Given the description of an element on the screen output the (x, y) to click on. 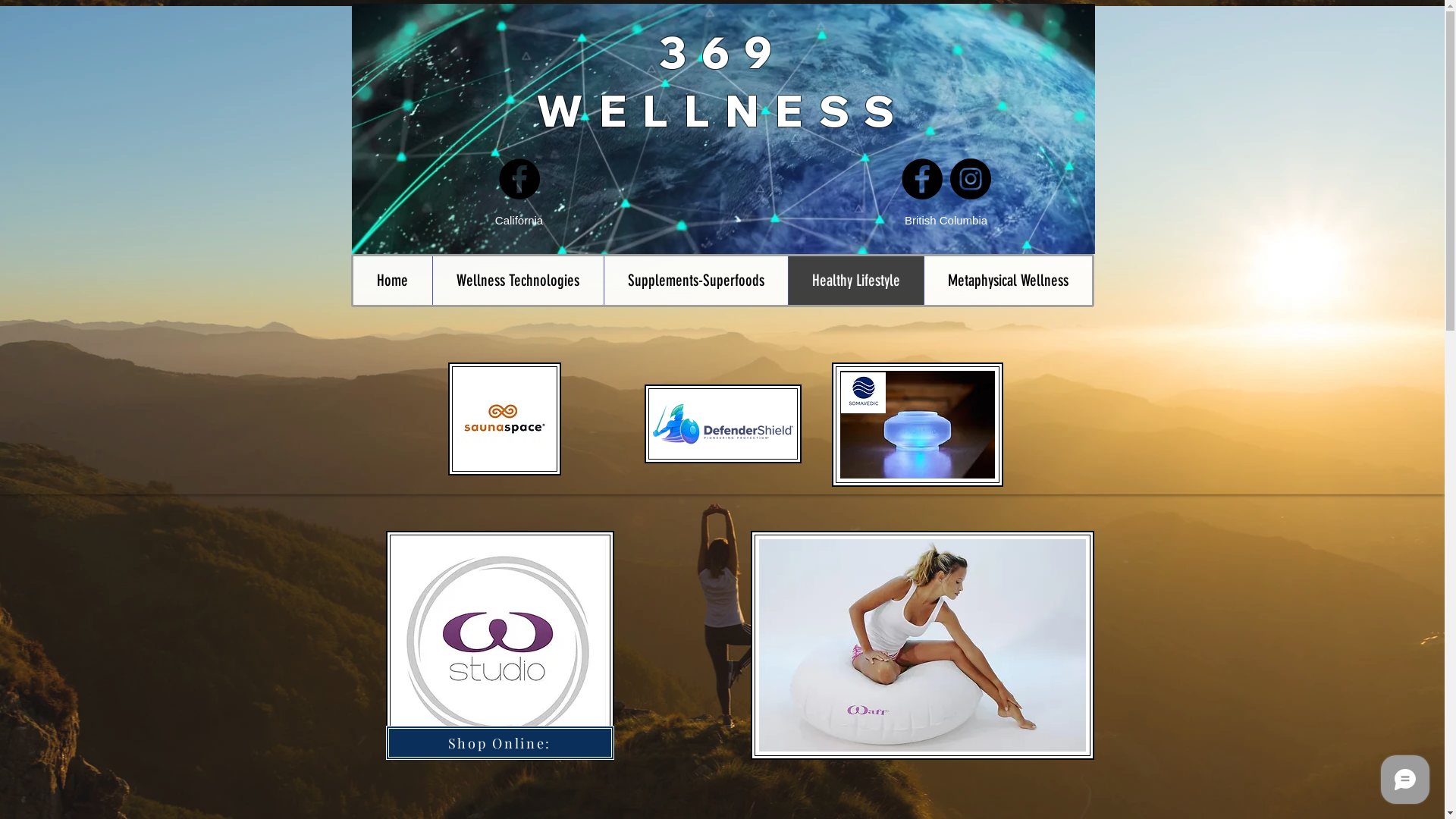
Home Element type: text (392, 280)
Wellness Technologies Element type: text (517, 280)
Shop Online: Element type: text (499, 742)
Metaphysical Wellness Element type: text (1007, 280)
Healthy Lifestyle Element type: text (854, 280)
Supplements-Superfoods Element type: text (695, 280)
369 WELLNESS Element type: text (722, 81)
